Given the description of an element on the screen output the (x, y) to click on. 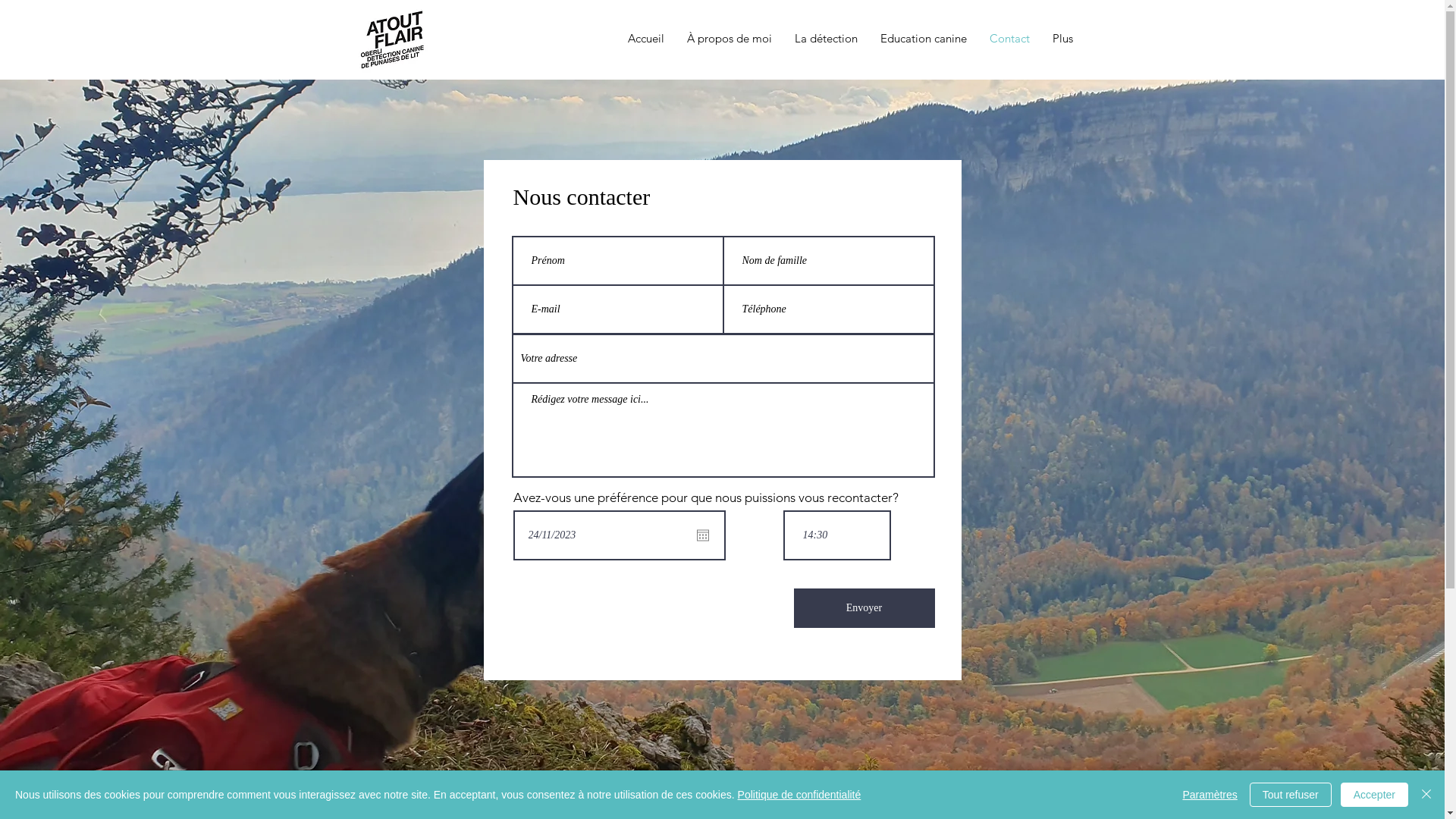
Accepter Element type: text (1374, 794)
Education canine Element type: text (923, 38)
Contact Element type: text (1009, 38)
Envoyer Element type: text (863, 607)
Tout refuser Element type: text (1290, 794)
Accueil Element type: text (644, 38)
